Given the description of an element on the screen output the (x, y) to click on. 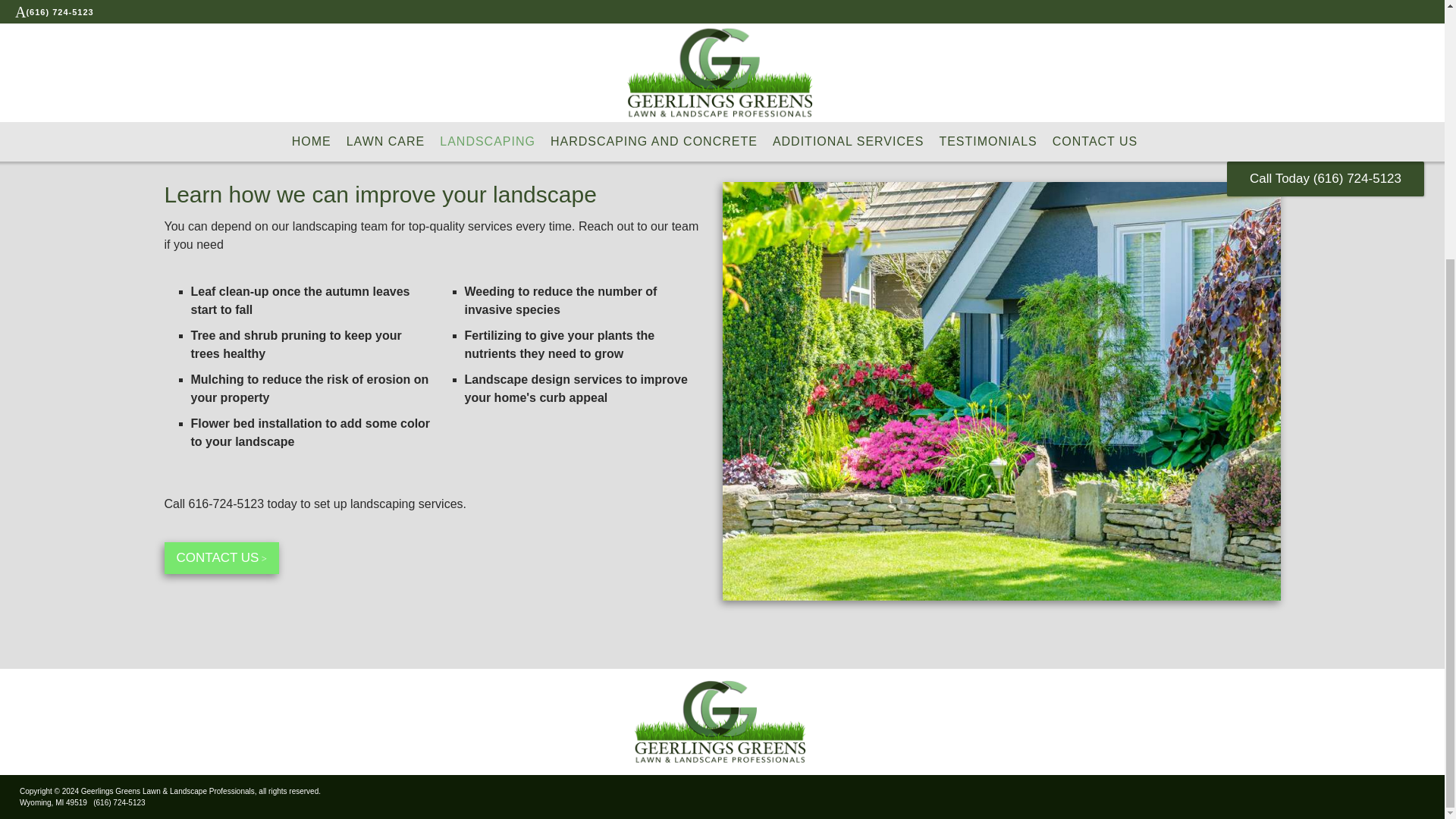
Learn how we can improve your landscape (379, 193)
CONTACT US (220, 558)
